Given the description of an element on the screen output the (x, y) to click on. 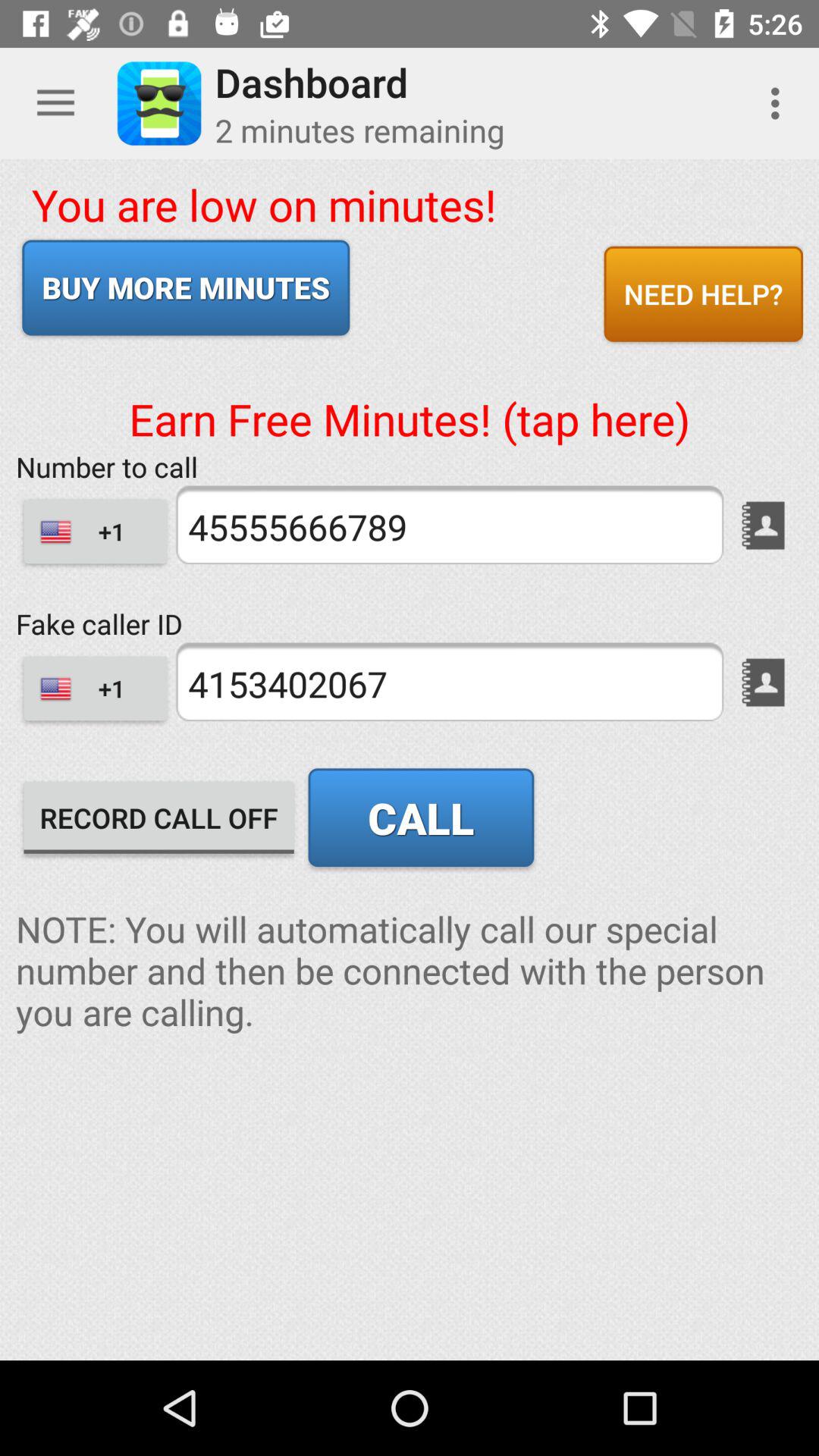
press item above need help? icon (779, 103)
